Given the description of an element on the screen output the (x, y) to click on. 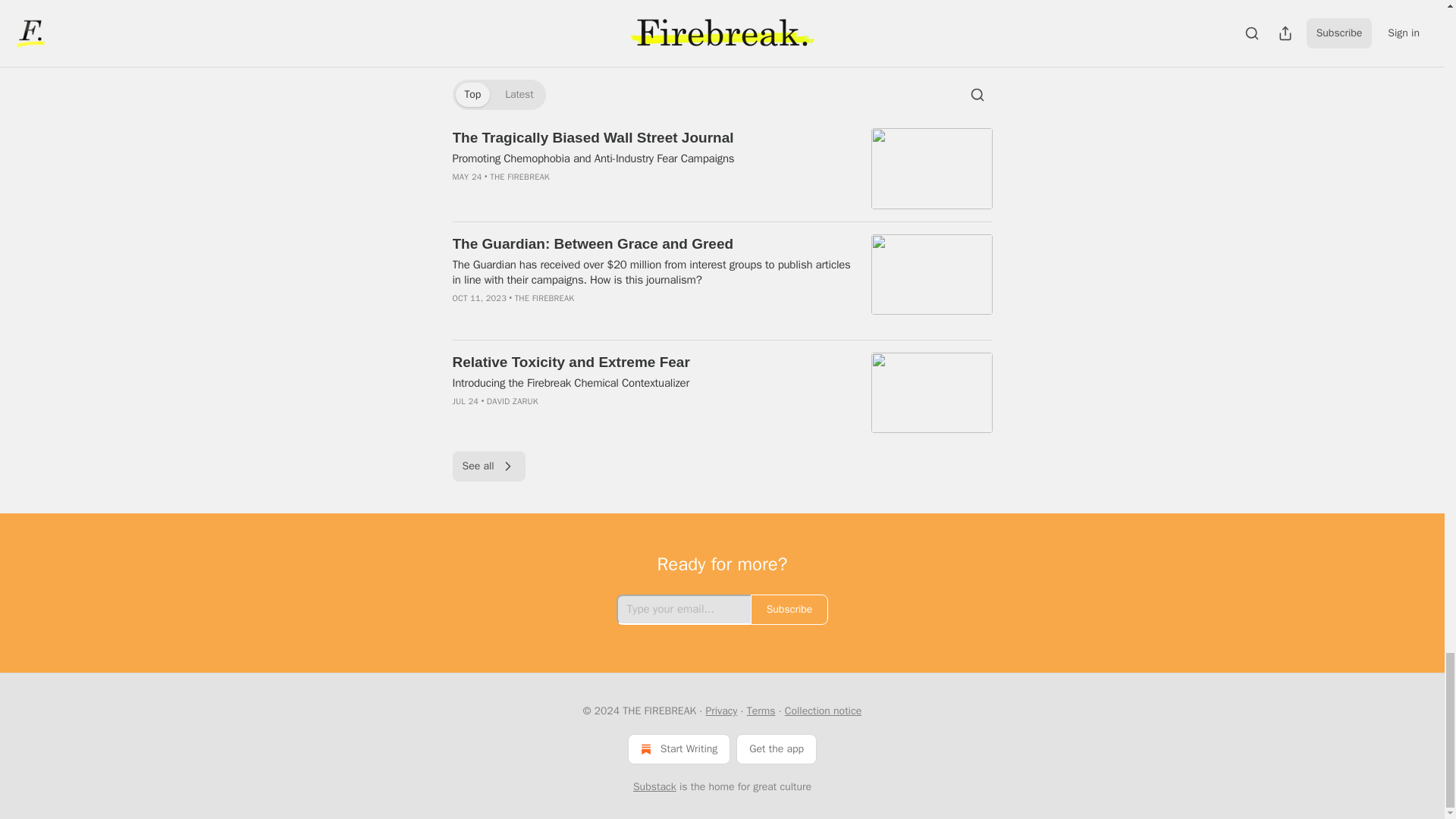
Previous (485, 33)
Top (471, 94)
Next (966, 33)
